Given the description of an element on the screen output the (x, y) to click on. 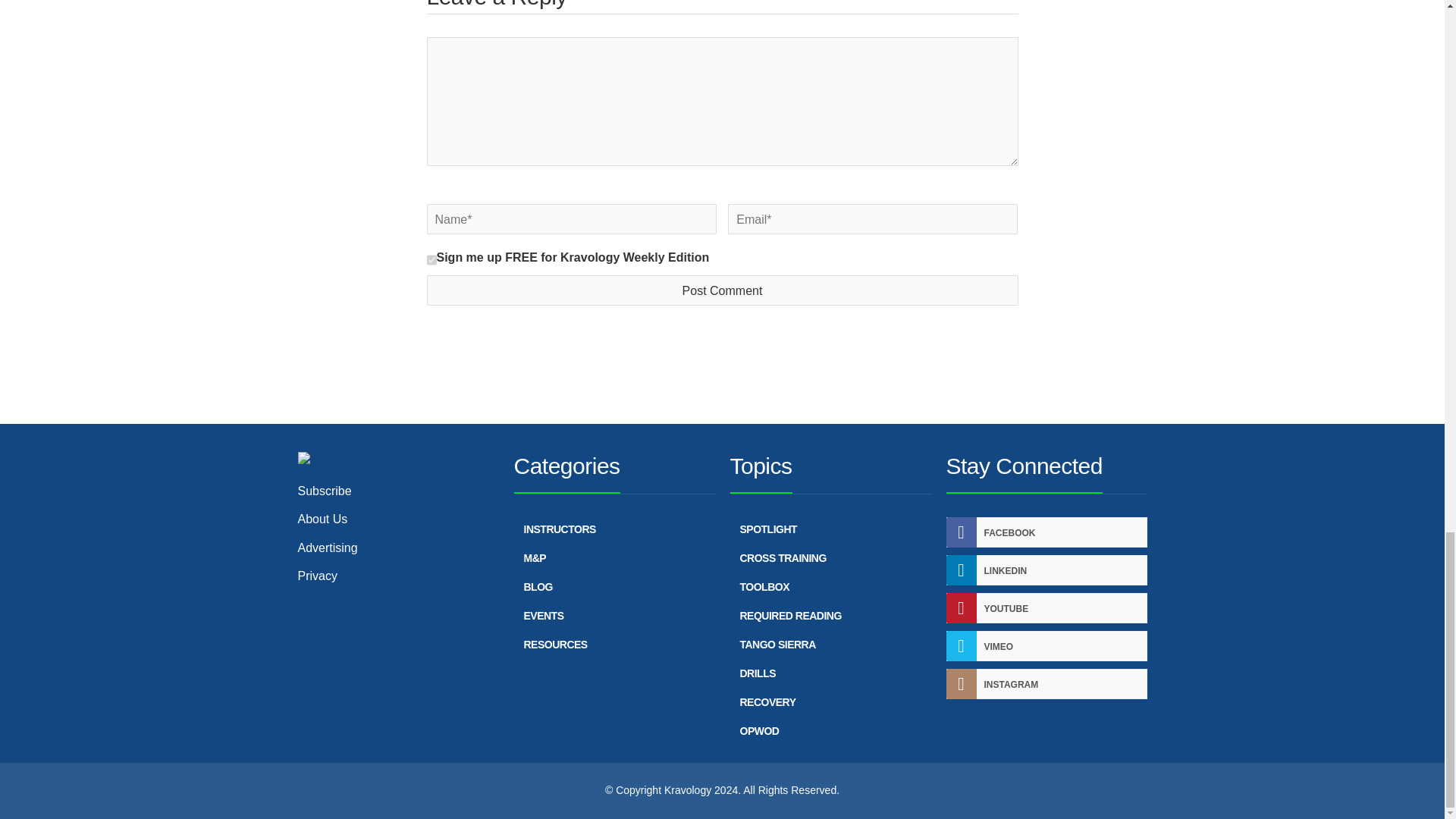
Post Comment (721, 290)
